Given the description of an element on the screen output the (x, y) to click on. 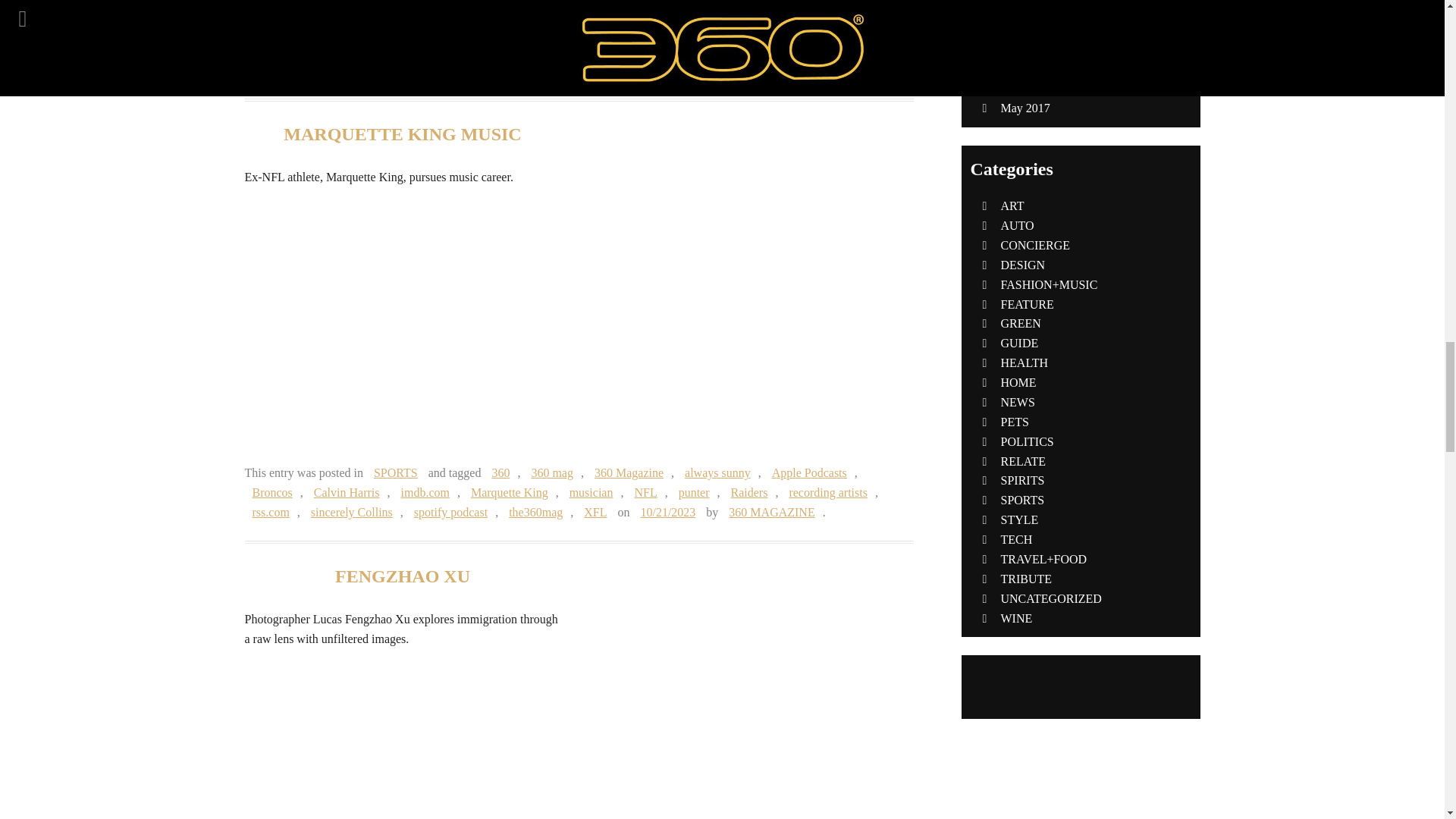
View all posts by 360 MAGAZINE (294, 69)
1:42 pm (667, 512)
11:22 pm (845, 51)
View all posts by 360 MAGAZINE (771, 512)
